Given the description of an element on the screen output the (x, y) to click on. 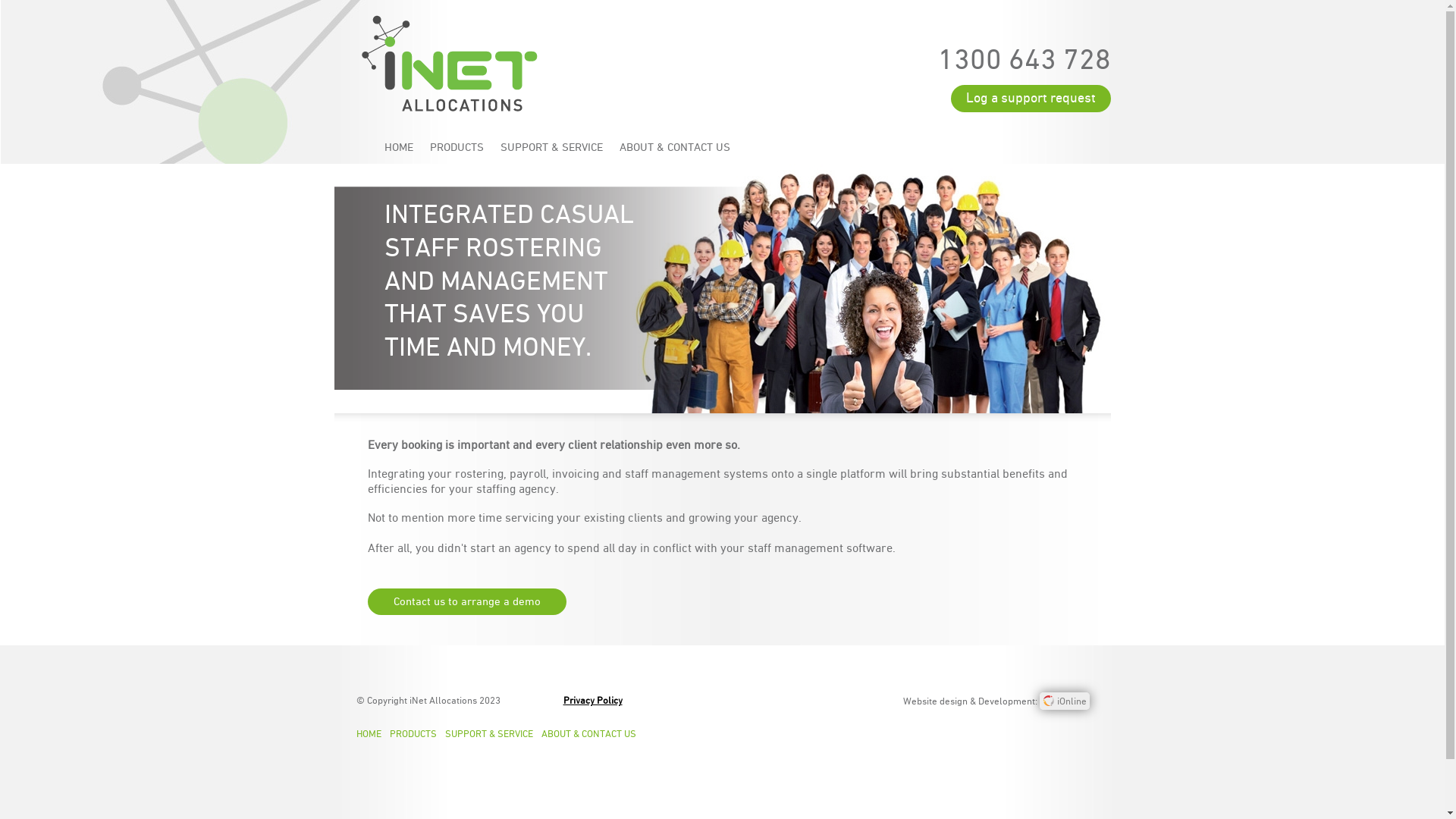
PRODUCTS Element type: text (417, 733)
HOME Element type: text (372, 733)
Log a support request Element type: text (1030, 98)
HOME Element type: text (390, 146)
SUPPORT & SERVICE Element type: text (493, 733)
Contact us to arrange a demo Element type: text (466, 601)
ABOUT & CONTACT US Element type: text (674, 146)
SUPPORT & SERVICE Element type: text (550, 146)
Privacy Policy Element type: text (592, 700)
PRODUCTS Element type: text (456, 146)
iOnline Element type: text (1064, 700)
ABOUT & CONTACT US Element type: text (592, 733)
